Given the description of an element on the screen output the (x, y) to click on. 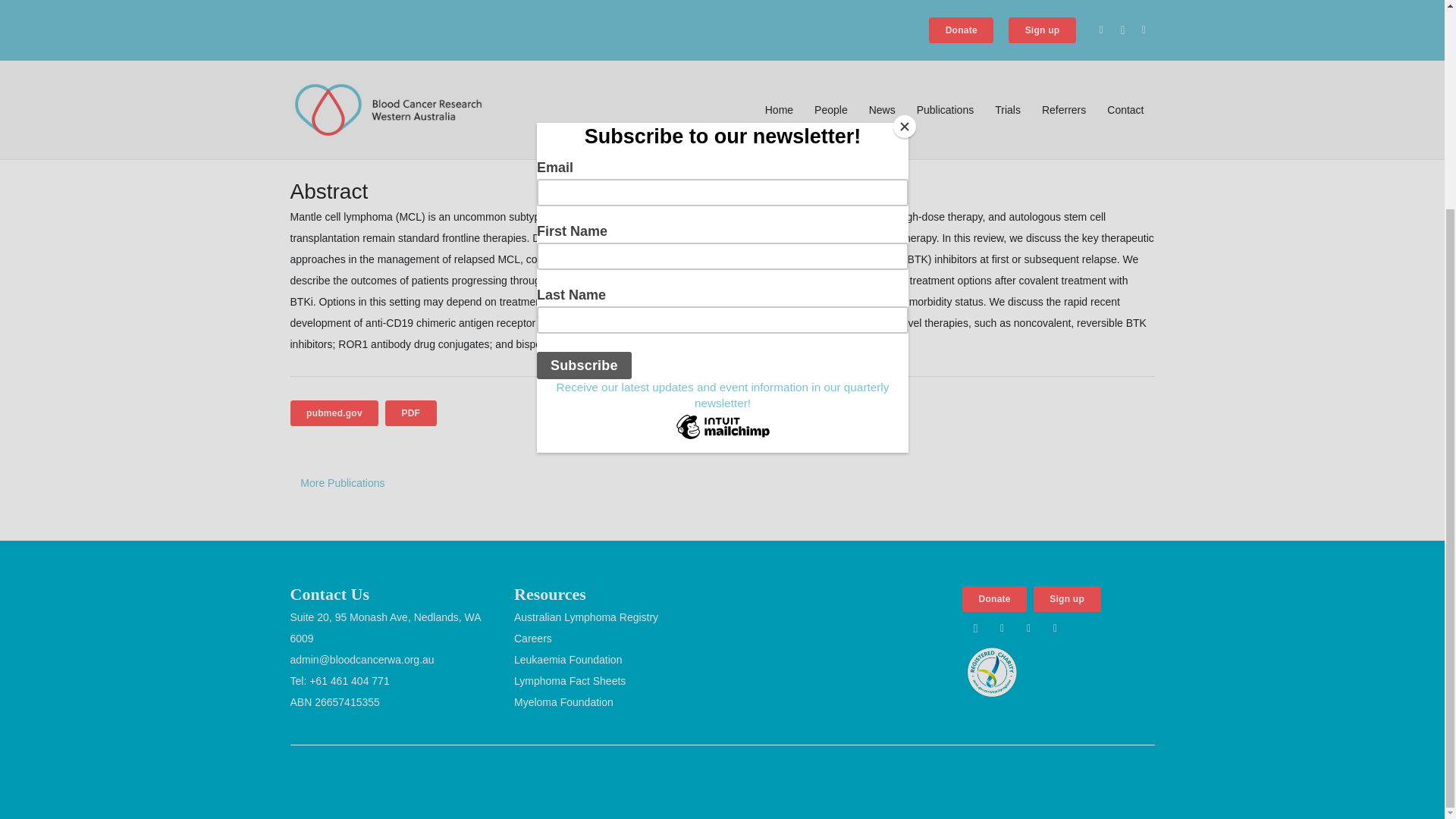
Michael L Wang (484, 33)
YouTube (1055, 628)
Toby A Eyre (317, 33)
Myeloma Foundation (562, 702)
Leukaemia Foundation (567, 659)
Australian Lymphoma Registry (585, 616)
Sign up (1066, 598)
Chan Y Cheah (393, 33)
PDF (410, 412)
LinkedIn (1028, 628)
More Publications (341, 482)
Lymphoma Fact Sheets (569, 680)
Facebook (1001, 628)
Careers (532, 638)
pubmed.gov (333, 412)
